Given the description of an element on the screen output the (x, y) to click on. 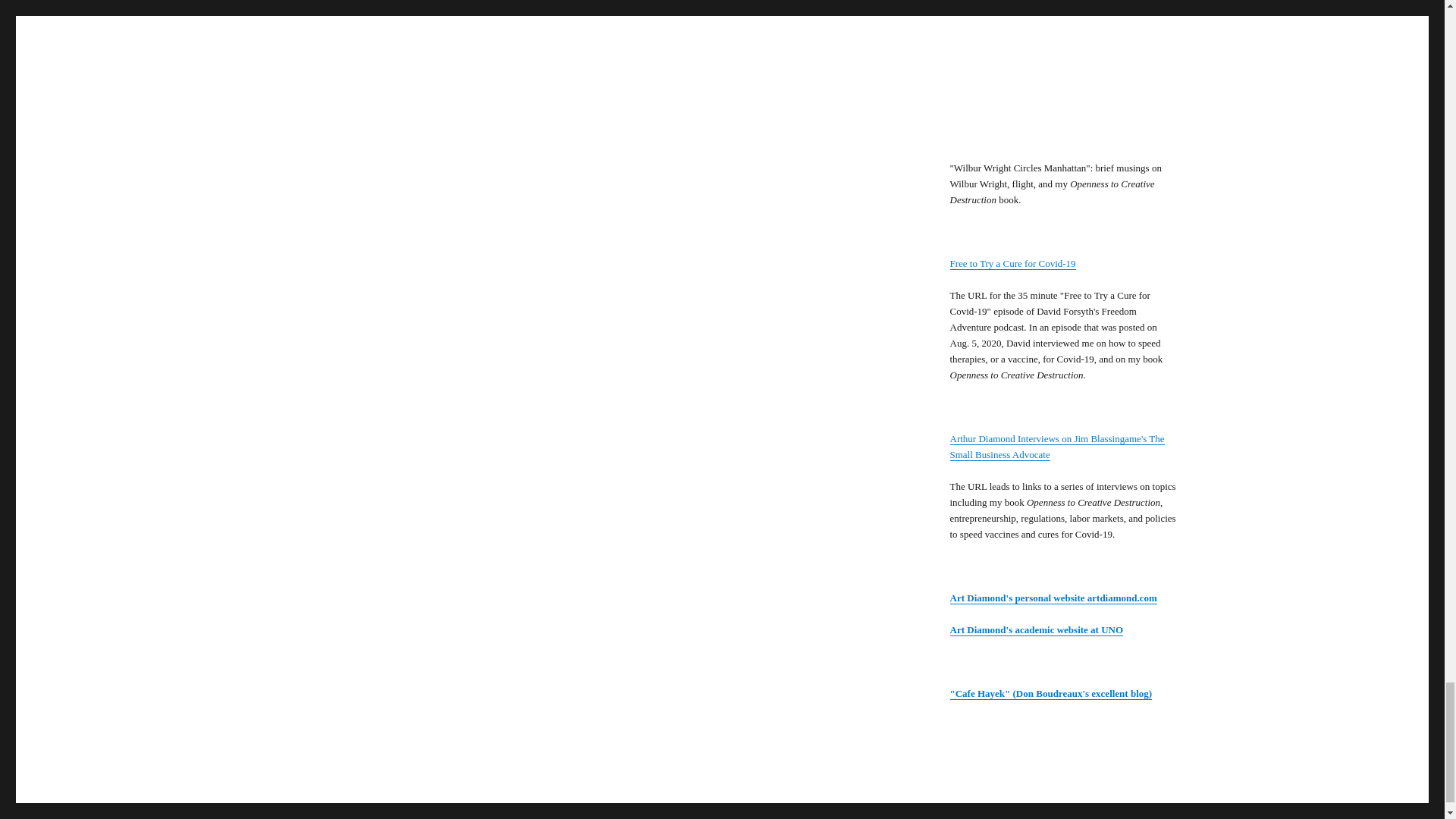
Art Diamond's personal website artdiamond.com (1052, 597)
Art Diamond's academic website at UNO (1035, 629)
Free to Try a Cure for Covid-19 (1012, 263)
